Given the description of an element on the screen output the (x, y) to click on. 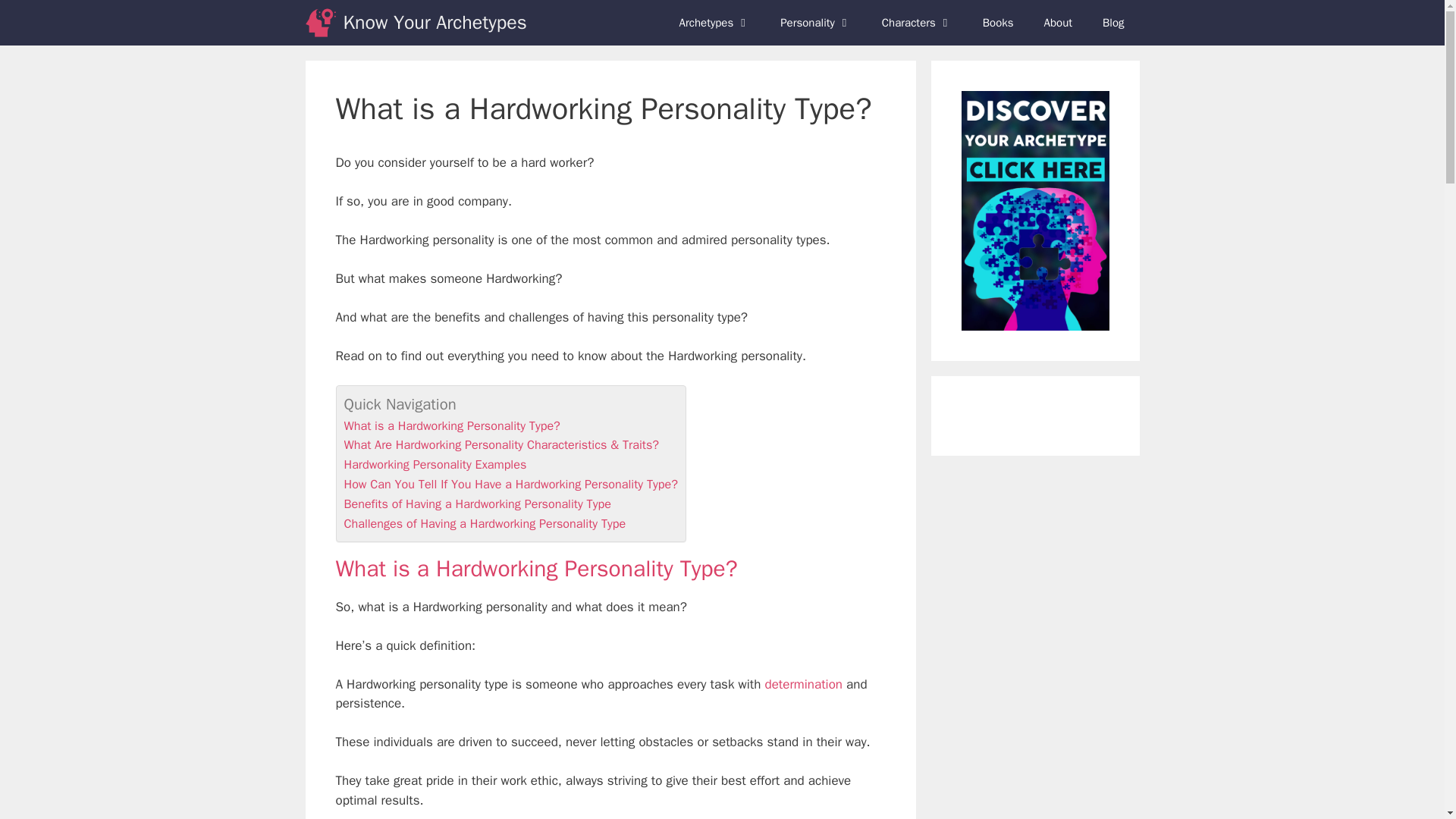
How Can You Tell If You Have a Hardworking Personality Type? (510, 483)
determination (803, 684)
How Can You Tell If You Have a Hardworking Personality Type? (510, 483)
Challenges of Having a Hardworking Personality Type (484, 523)
What is a Hardworking Personality Type? (451, 425)
Benefits of Having a Hardworking Personality Type (477, 503)
Benefits of Having a Hardworking Personality Type (477, 503)
Books (998, 22)
Archetypes (714, 22)
Characters (917, 22)
Challenges of Having a Hardworking Personality Type (484, 523)
Personality (815, 22)
Blog (1112, 22)
Hardworking Personality Examples (435, 464)
What is a Hardworking Personality Type? (451, 425)
